Given the description of an element on the screen output the (x, y) to click on. 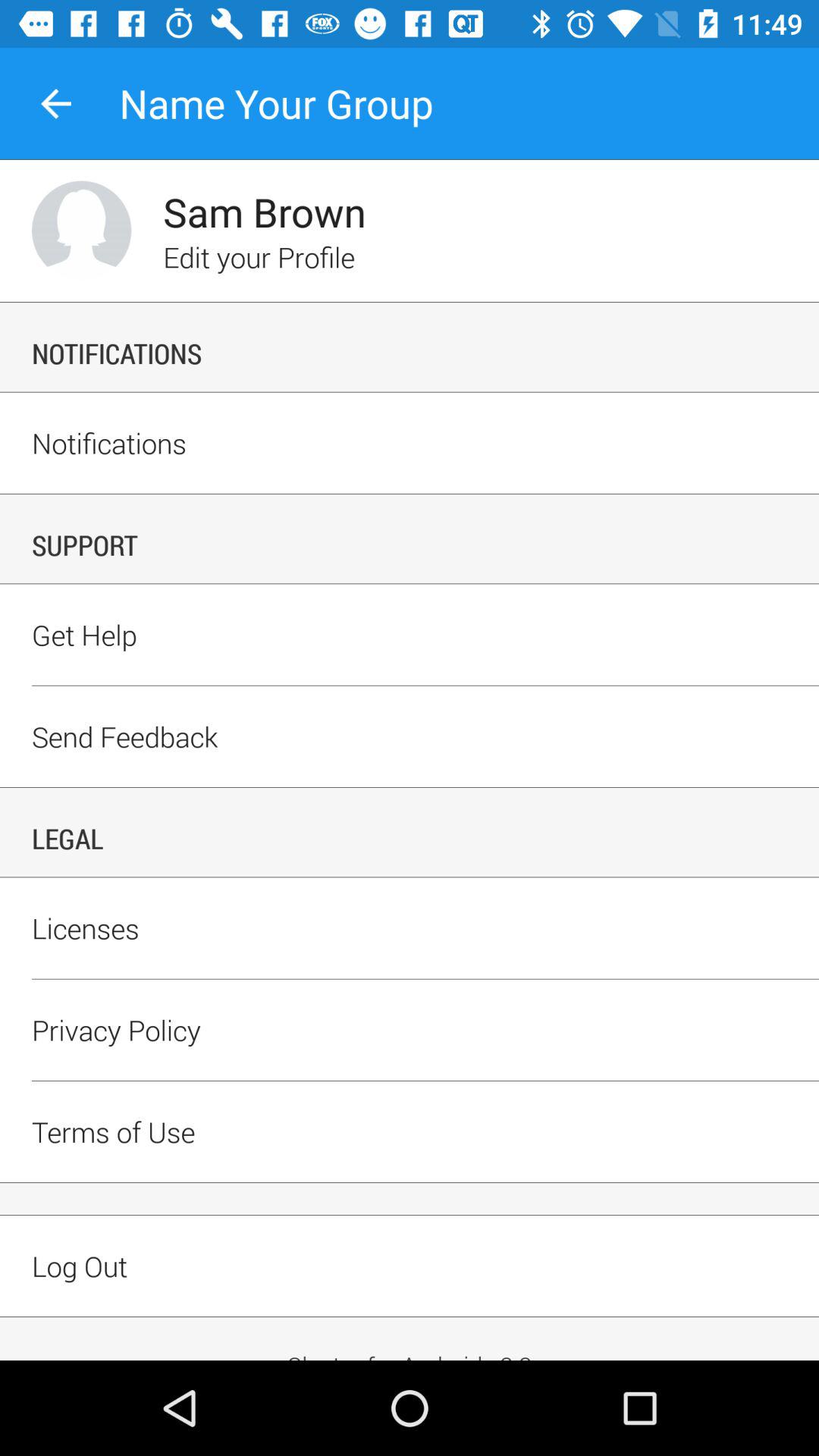
click on log out (409, 1292)
